Given the description of an element on the screen output the (x, y) to click on. 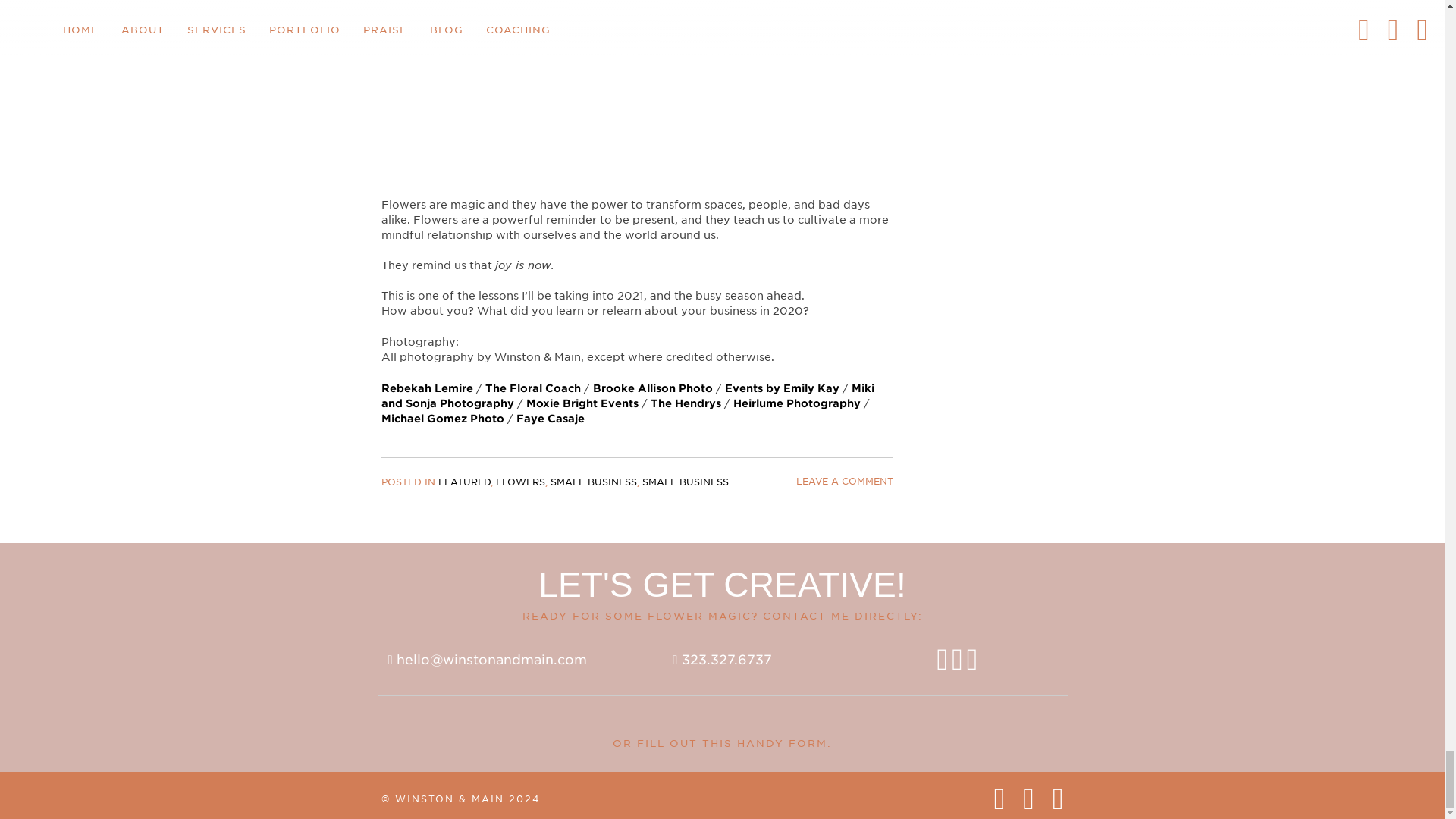
Michael Gomez Photo (441, 418)
Brooke Allison Photo (652, 387)
SMALL BUSINESS (685, 481)
Faye Casaje (549, 418)
Moxie Bright Events (582, 403)
The Hendrys (685, 403)
SMALL BUSINESS (593, 481)
The Floral Coach (532, 387)
Heirlume Photography (796, 403)
Events by Emily Kay (782, 387)
